Given the description of an element on the screen output the (x, y) to click on. 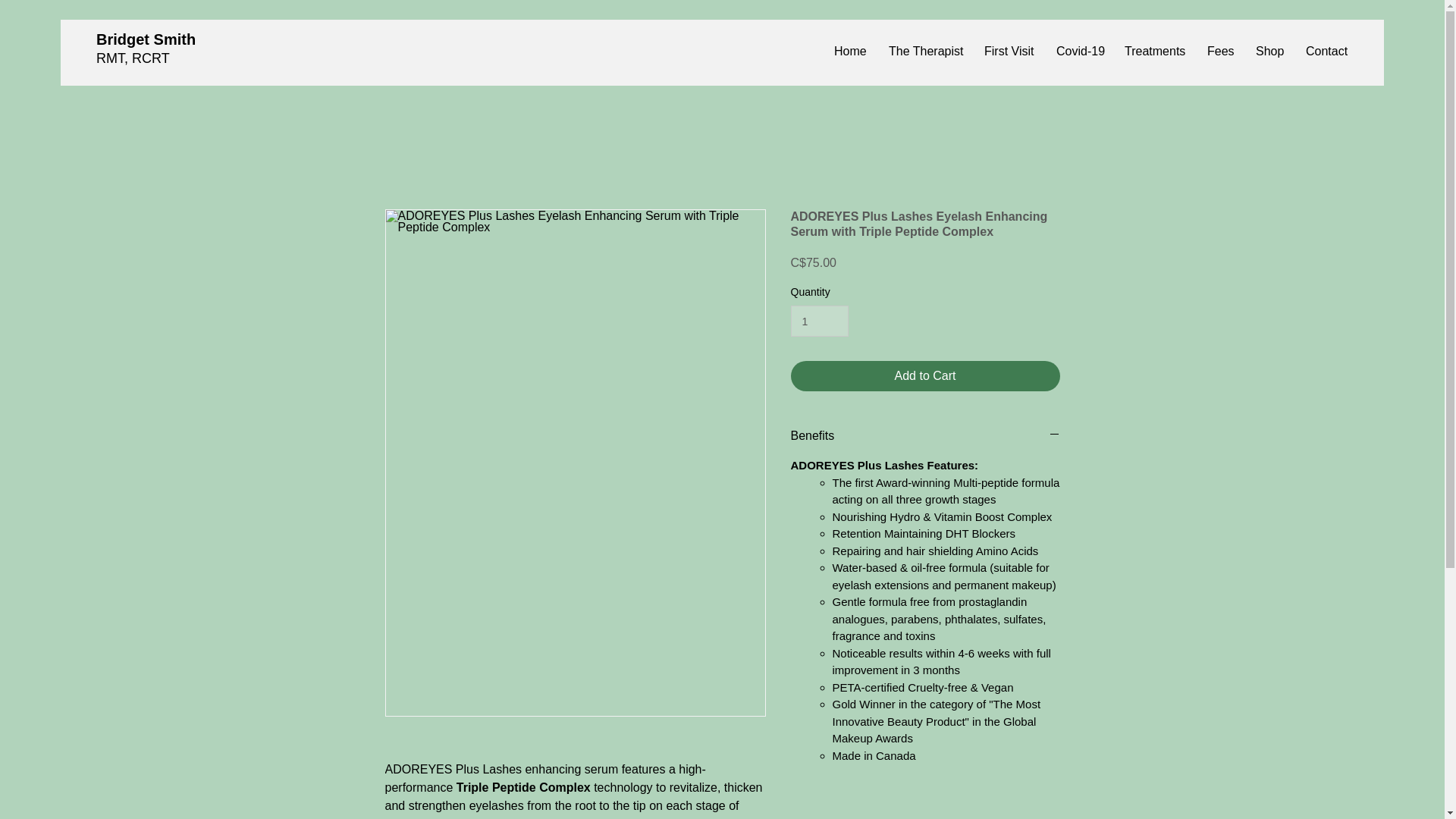
1 (818, 320)
Add to Cart (924, 376)
Benefits (924, 435)
The Therapist (924, 51)
Contact (1326, 51)
Home (849, 51)
First Visit (1008, 51)
RMT, RCRT (133, 58)
Shop (1269, 51)
Covid-19 (1079, 51)
Bridget Smith (145, 39)
Fees (1219, 51)
Treatments (1154, 51)
